Given the description of an element on the screen output the (x, y) to click on. 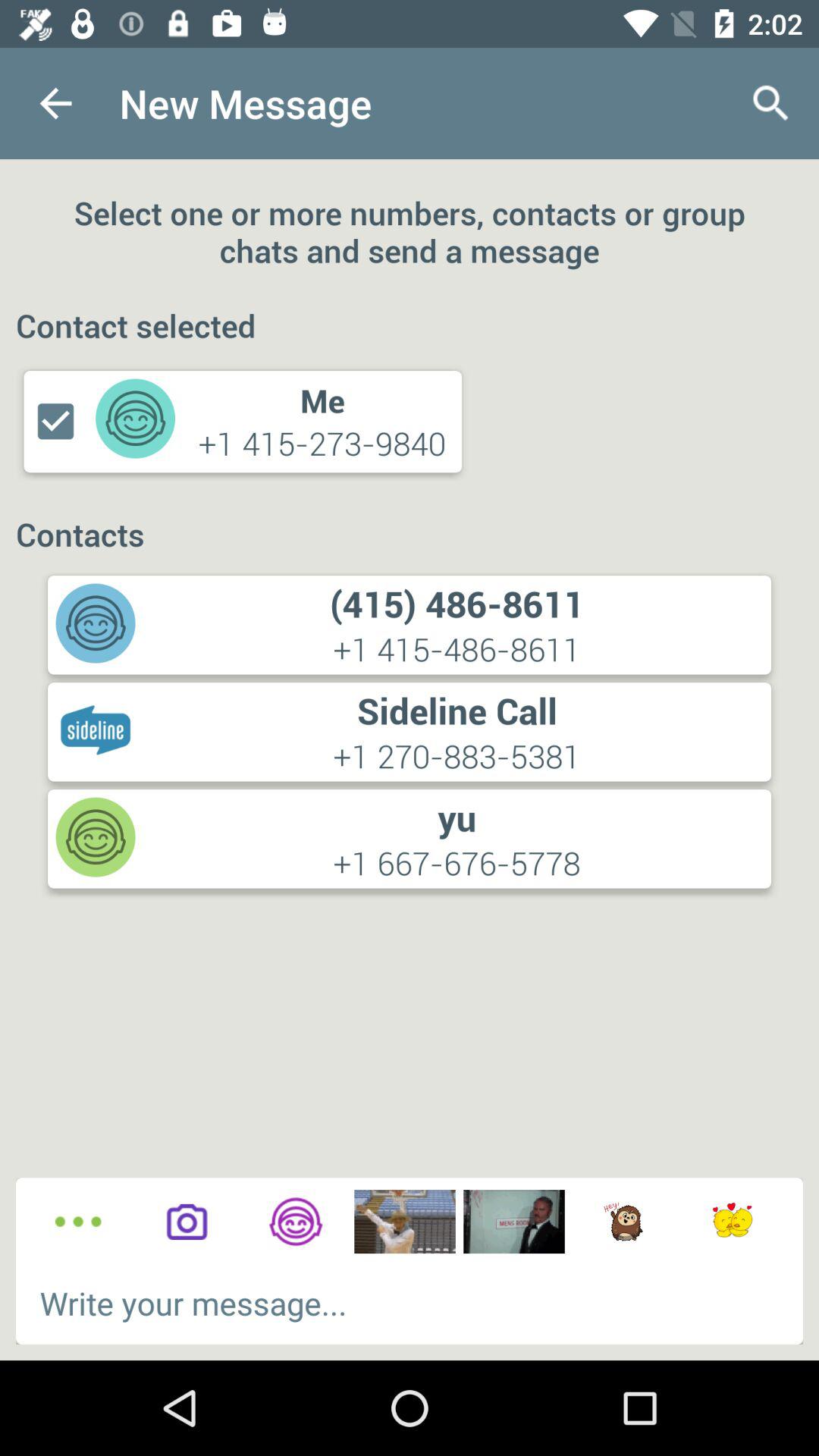
other options (77, 1221)
